Given the description of an element on the screen output the (x, y) to click on. 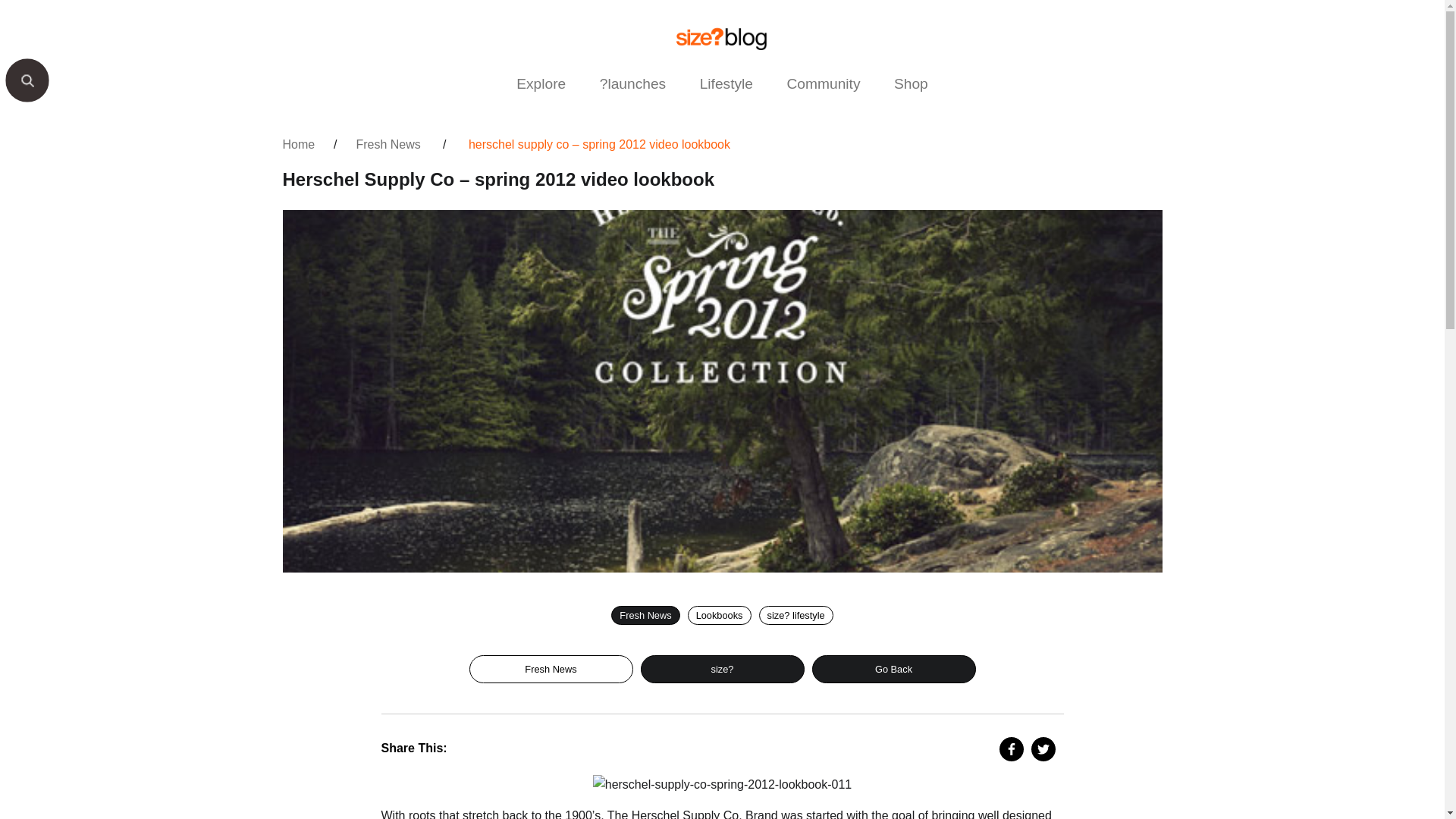
Community (823, 83)
size? lifestyle (795, 615)
Lifestyle (726, 83)
Go Back (892, 669)
size? (721, 669)
Explore (540, 83)
?launches (633, 83)
Fresh News (645, 615)
Fresh News (549, 669)
Shop (911, 83)
